Given the description of an element on the screen output the (x, y) to click on. 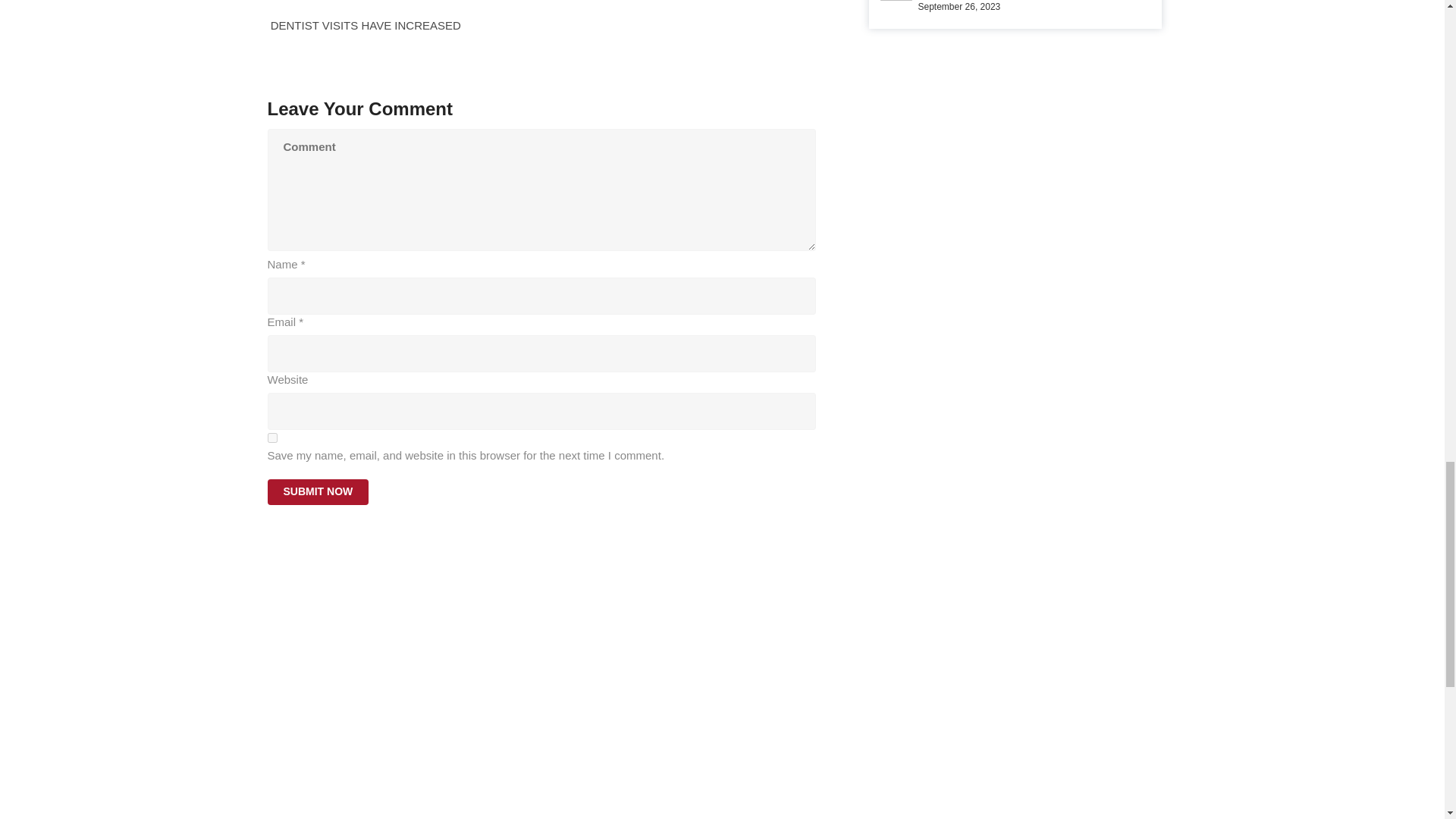
Submit Now (317, 491)
yes (271, 438)
